Given the description of an element on the screen output the (x, y) to click on. 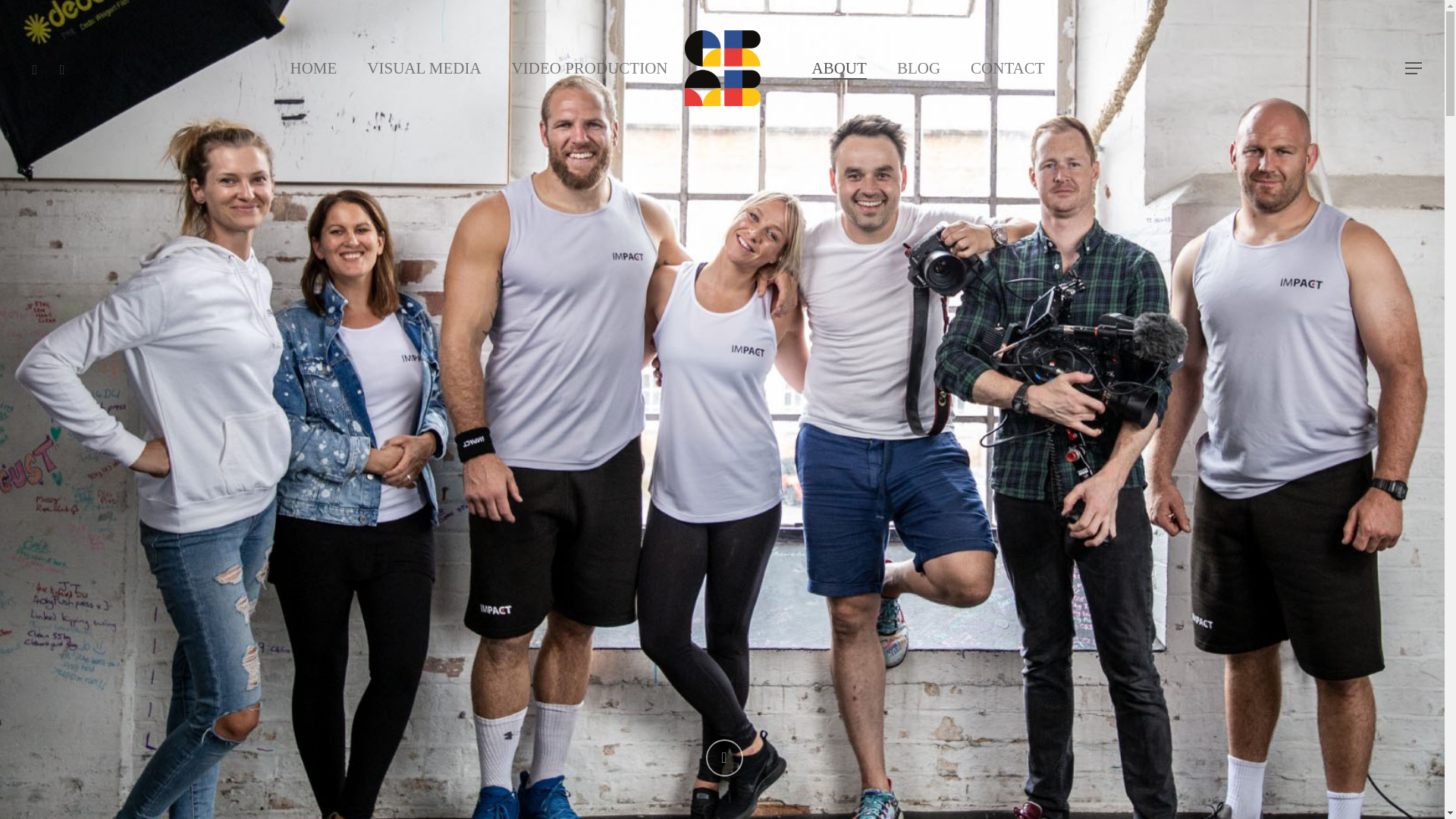
INSTAGRAM (61, 67)
HOME (312, 68)
ABOUT (839, 68)
CONTACT (1007, 68)
VISUAL MEDIA (423, 68)
Menu (1414, 68)
YOUTUBE (34, 67)
BLOG (918, 68)
VIDEO PRODUCTION (590, 68)
